Given the description of an element on the screen output the (x, y) to click on. 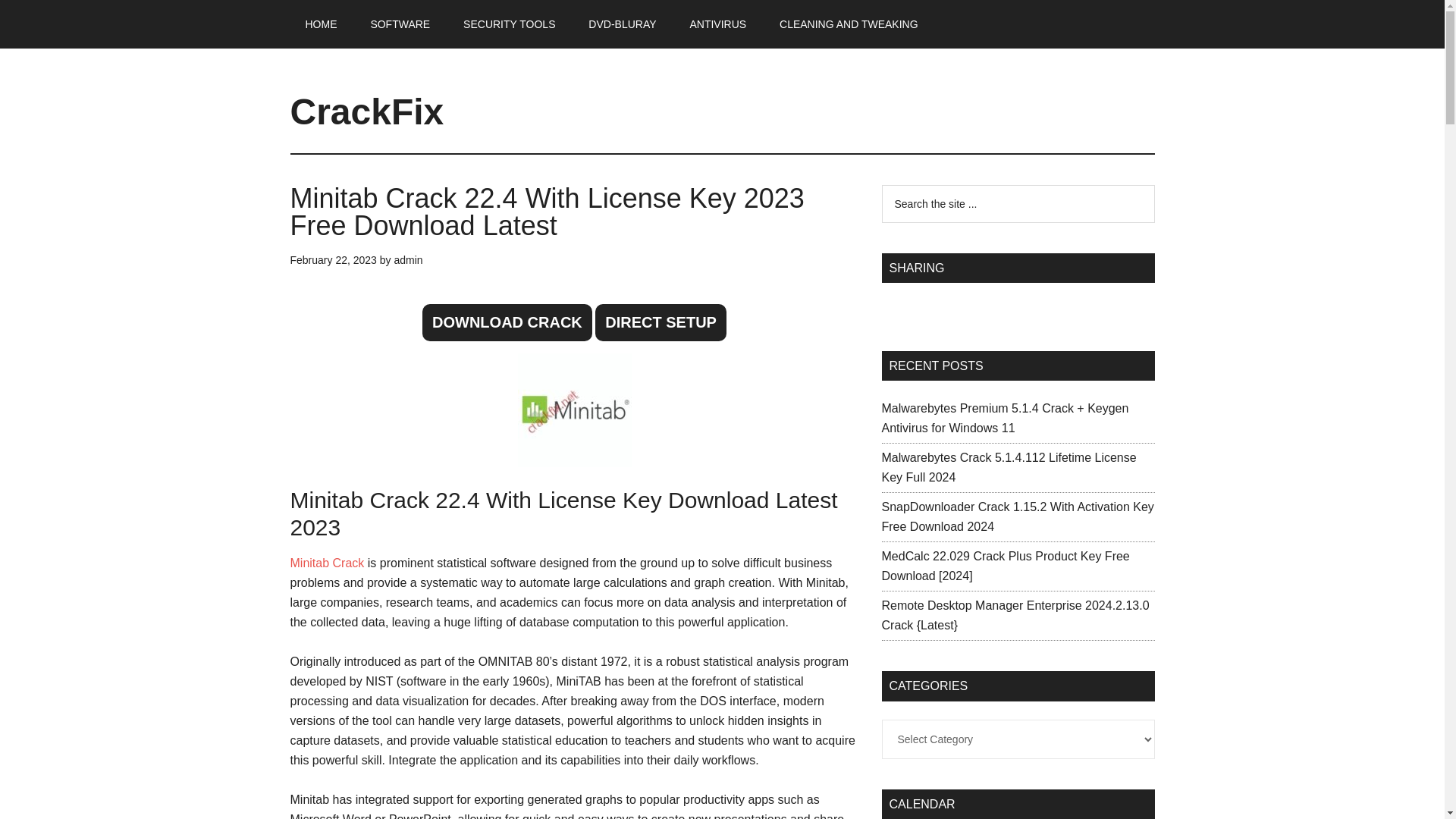
ANTIVIRUS (717, 24)
Minitab Crack (326, 562)
CrackFix (366, 111)
CLEANING AND TWEAKING (848, 24)
DOWNLOAD CRACK DIRECT SETUP (574, 323)
DVD-BLURAY (622, 24)
admin (407, 259)
DIRECT SETUP (660, 322)
